Given the description of an element on the screen output the (x, y) to click on. 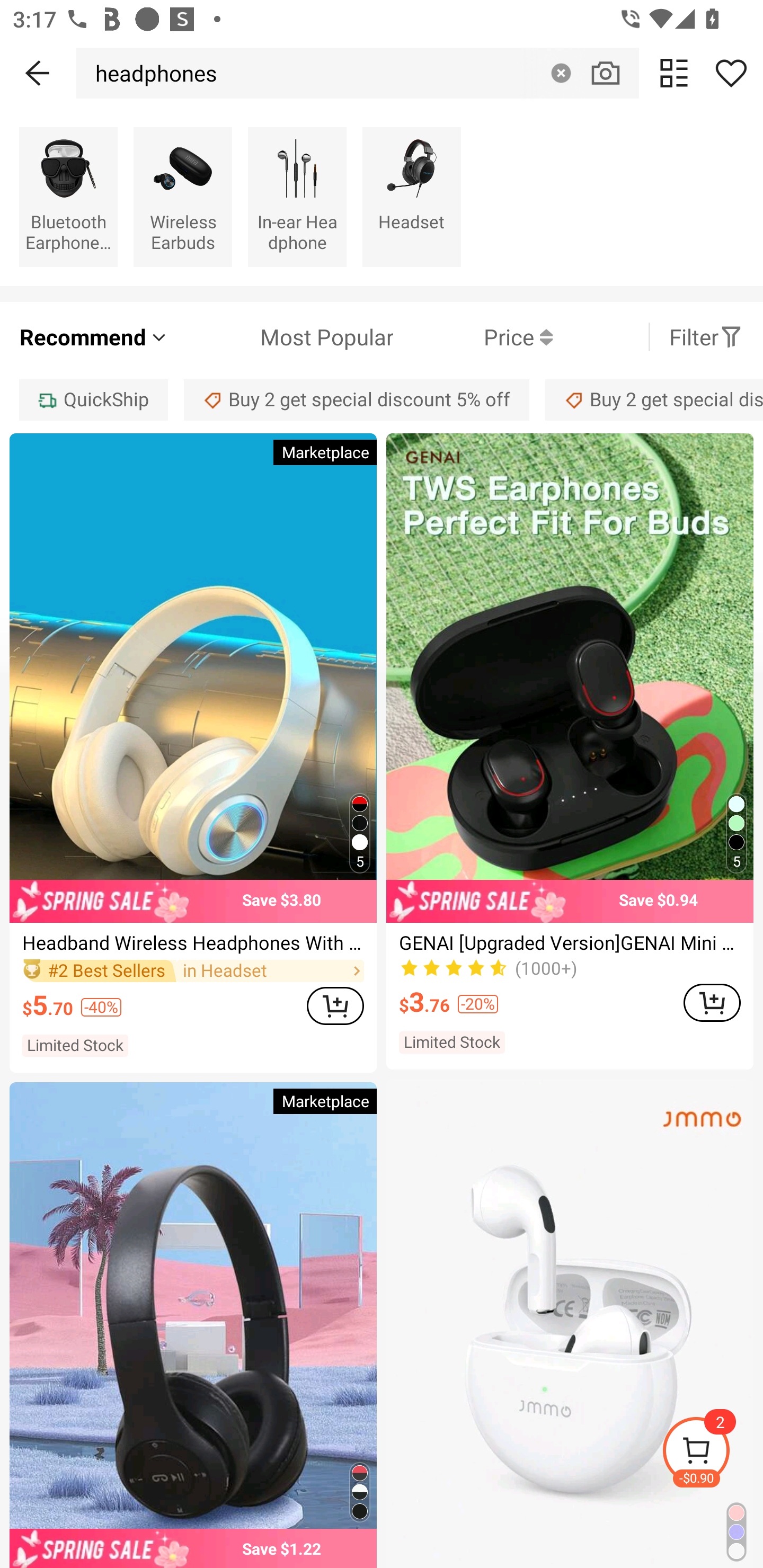
headphones (151, 72)
Clear (560, 72)
change view (673, 72)
Share (730, 72)
Bluetooth Earphone Cases (68, 196)
Wireless Earbuds (182, 196)
In-ear Headphone (296, 196)
Headset (411, 196)
Recommend (94, 336)
Most Popular (280, 336)
Price (472, 336)
Filter (705, 336)
QuickShip (93, 399)
Buy 2 get special discount 5% off (356, 399)
Buy 2 get special discount 5% off (654, 399)
#2 Best Sellers in Headset (192, 970)
ADD TO CART (711, 1002)
ADD TO CART (334, 1005)
-$0.90 (712, 1452)
